Given the description of an element on the screen output the (x, y) to click on. 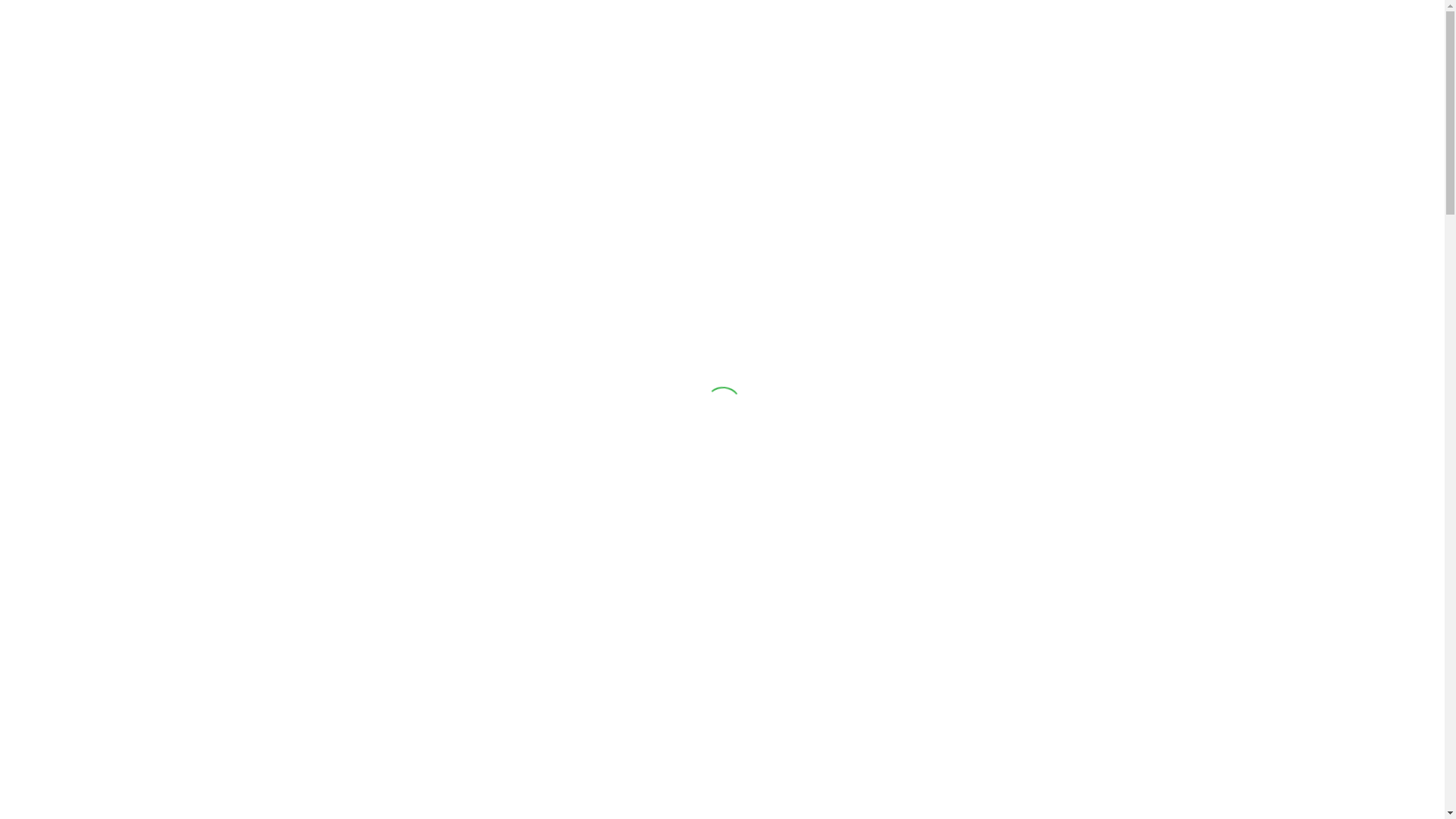
ANFAHRT Element type: text (1018, 30)
STARTSEITE Element type: text (622, 30)
TICKET SICHERN Element type: text (741, 30)
KONTAKT Element type: text (1108, 30)
KURZINFO Element type: text (856, 30)
TICKET BUCHEN Element type: text (721, 243)
FILME Element type: text (938, 30)
